Given the description of an element on the screen output the (x, y) to click on. 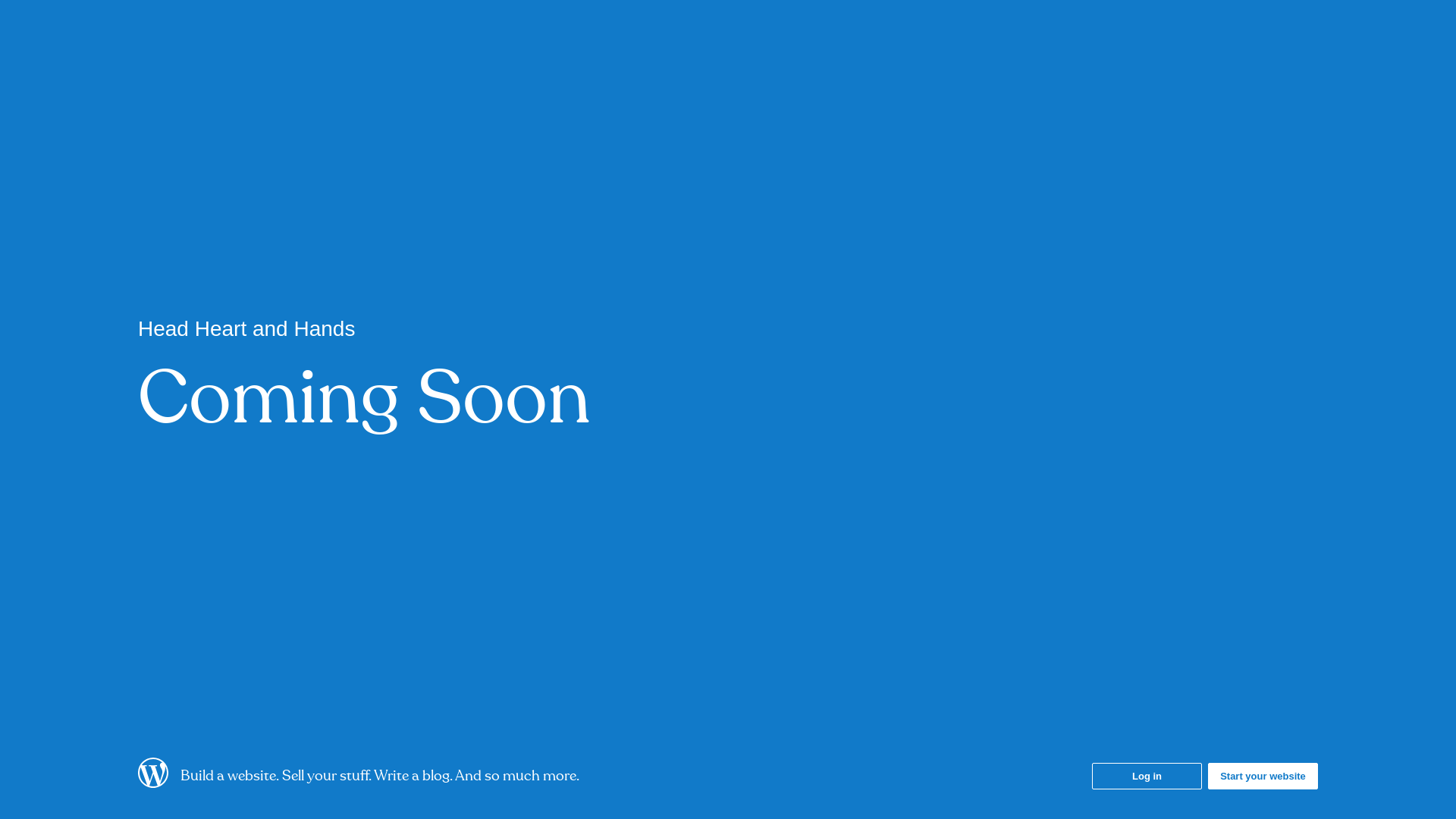
WordPress.com Element type: text (153, 782)
Start your website Element type: text (1262, 775)
Log in Element type: text (1146, 775)
